Given the description of an element on the screen output the (x, y) to click on. 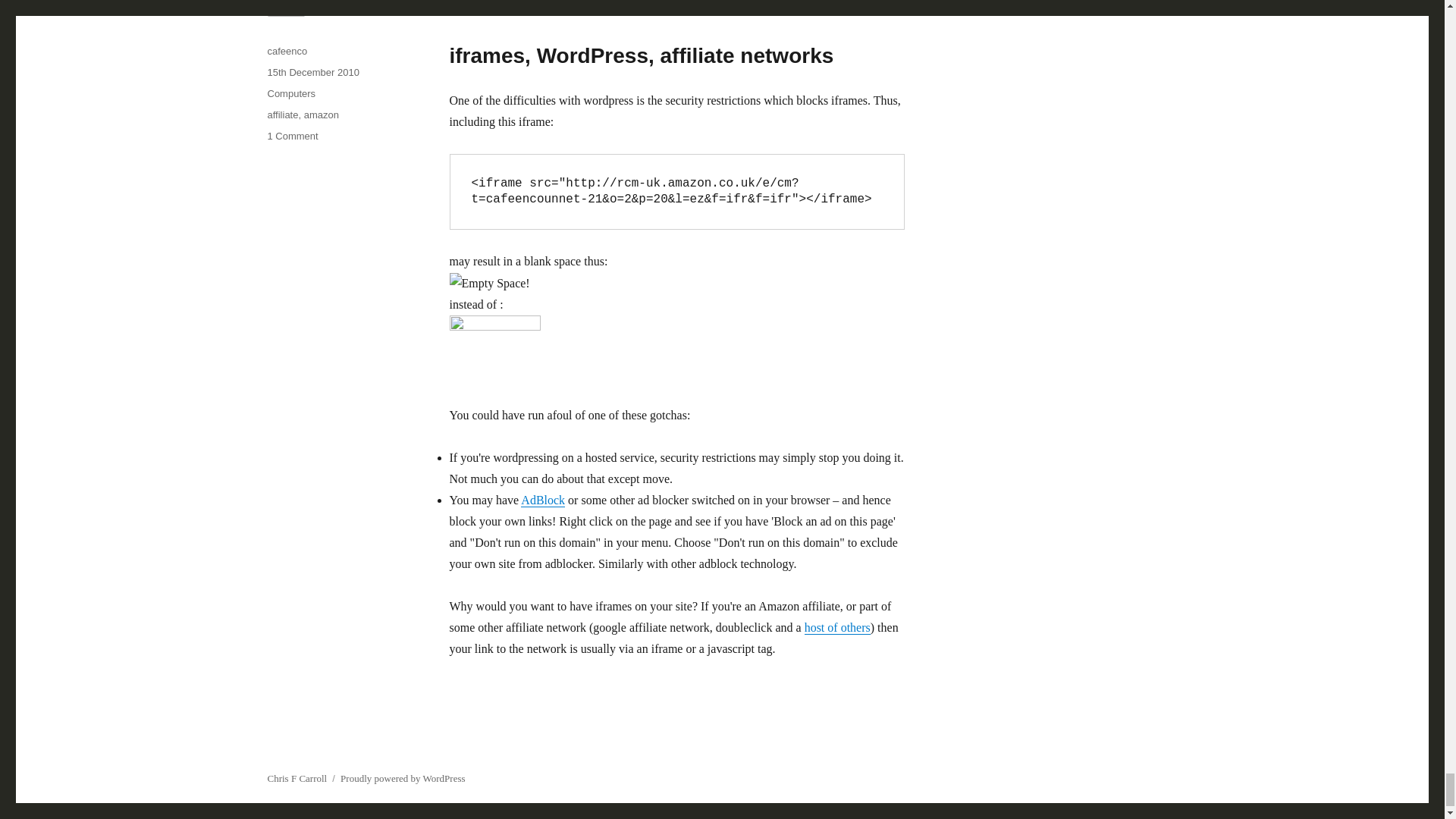
Empty Space! (488, 283)
